Given the description of an element on the screen output the (x, y) to click on. 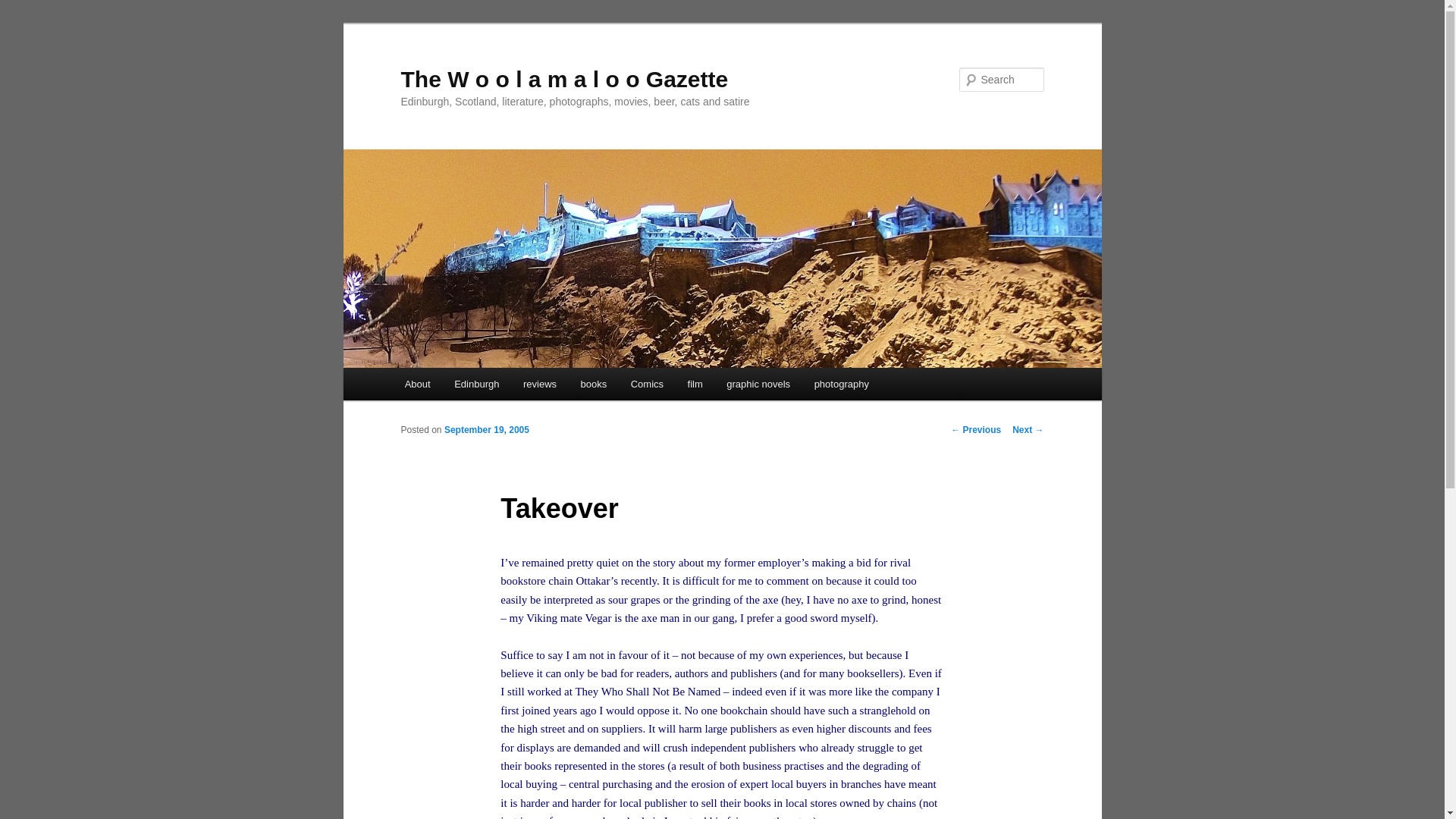
graphic novels (758, 383)
photography (841, 383)
books (593, 383)
The W o o l a m a l o o Gazette (564, 78)
Search (24, 8)
reviews (540, 383)
September 19, 2005 (486, 429)
About (417, 383)
Comics (646, 383)
film (694, 383)
Edinburgh (476, 383)
